Given the description of an element on the screen output the (x, y) to click on. 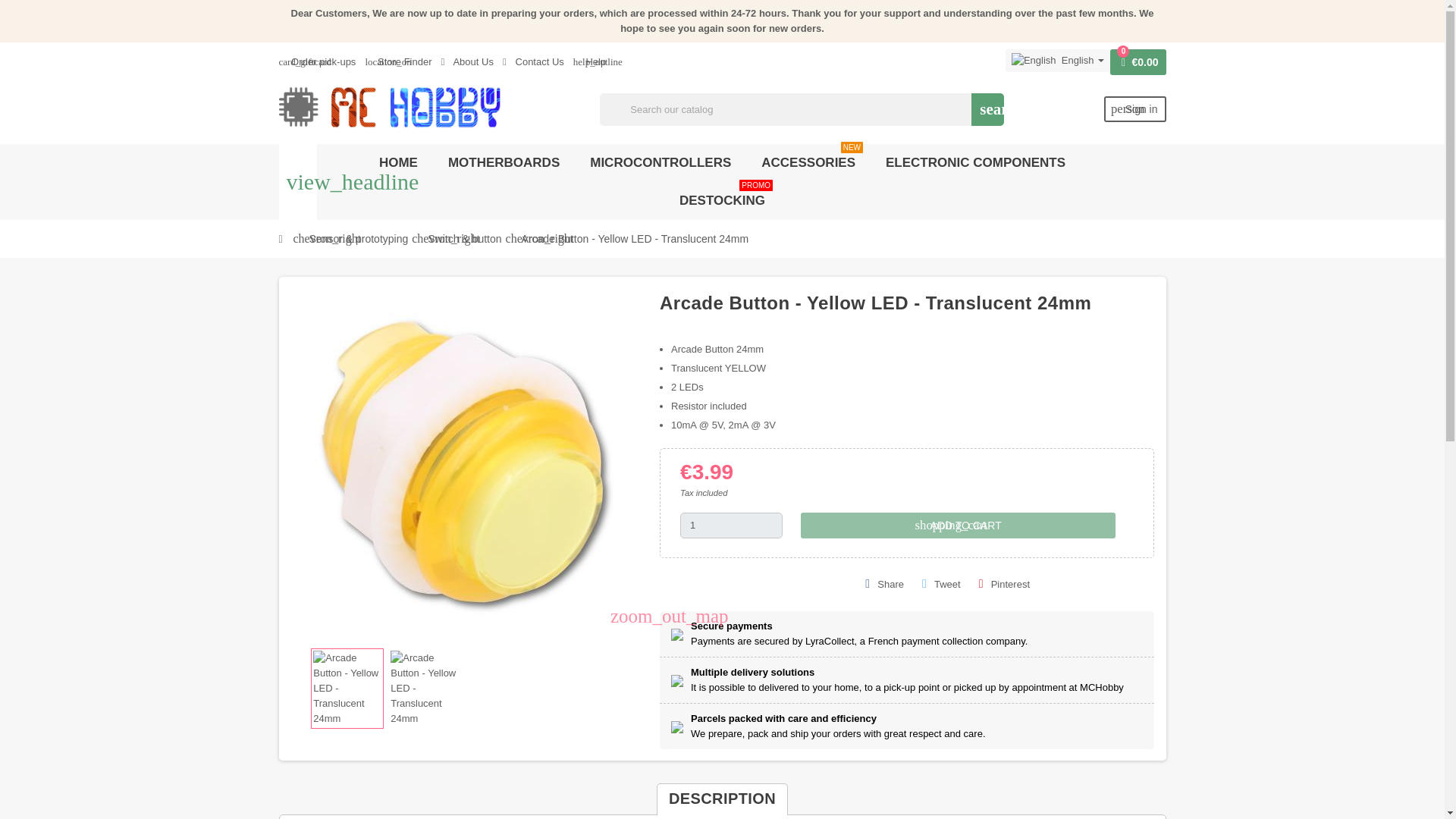
MICROCONTROLLERS (660, 162)
1 (807, 162)
Log in to your customer account (731, 525)
Pinterest (1134, 108)
About Us (1004, 584)
Contact Us (467, 61)
ELECTRONIC COMPONENTS (533, 61)
search (976, 162)
Pinterest (987, 109)
HOME (722, 200)
  English (1004, 584)
DESCRIPTION (398, 162)
Tweet (1058, 60)
